Given the description of an element on the screen output the (x, y) to click on. 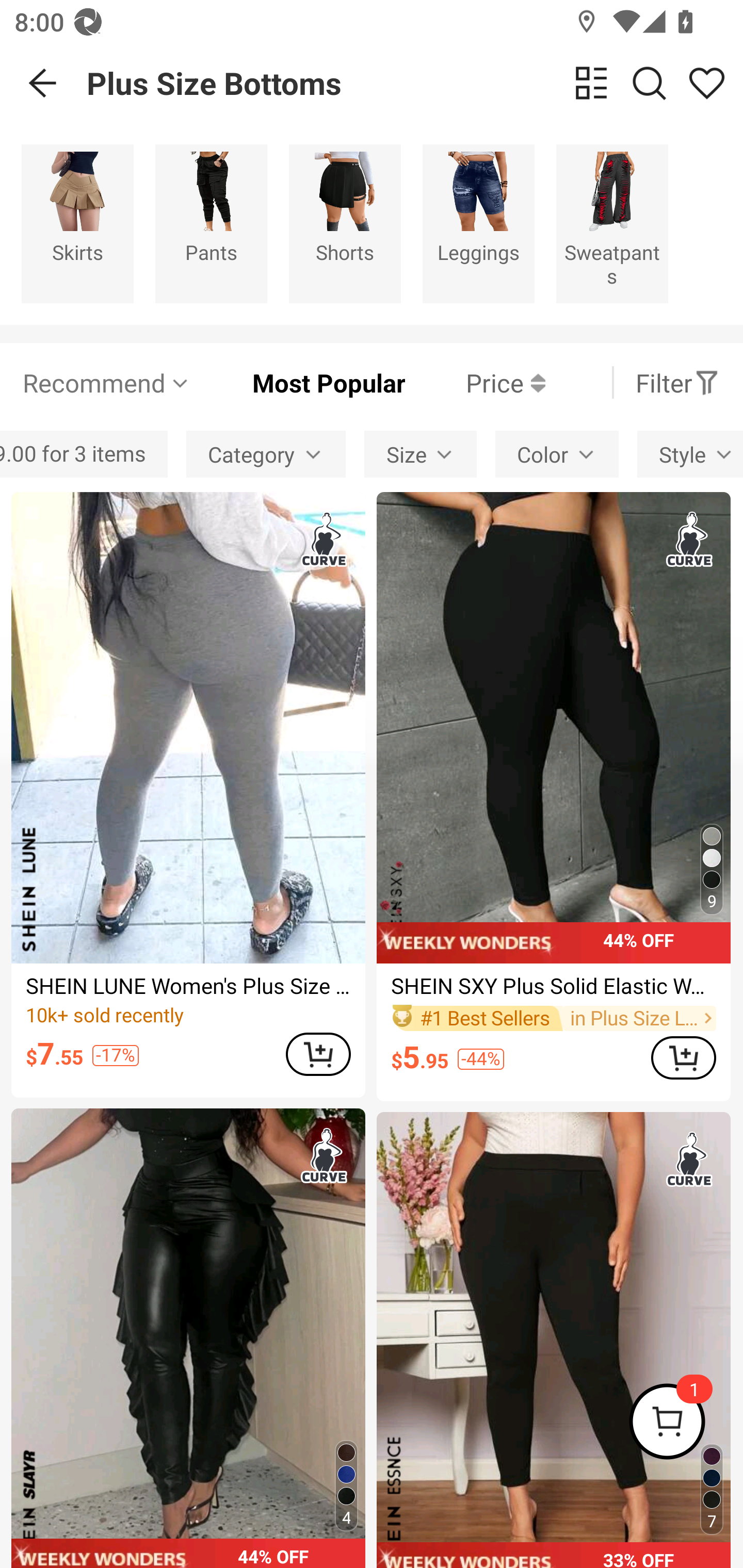
Plus Size Bottoms change view Search Share (414, 82)
change view (591, 82)
Search (648, 82)
Share (706, 82)
Skirts (77, 223)
Pants (211, 223)
Shorts (345, 223)
Leggings (478, 223)
Sweatpants (611, 223)
Recommend (106, 382)
Most Popular (297, 382)
Price (474, 382)
Filter (677, 382)
$19.00 for 3 items (83, 454)
Category (265, 454)
Size (420, 454)
Color (556, 454)
Style (690, 454)
#1 Best Sellers in Plus Size Leggings (553, 1018)
ADD TO CART (318, 1054)
ADD TO CART (683, 1057)
